Given the description of an element on the screen output the (x, y) to click on. 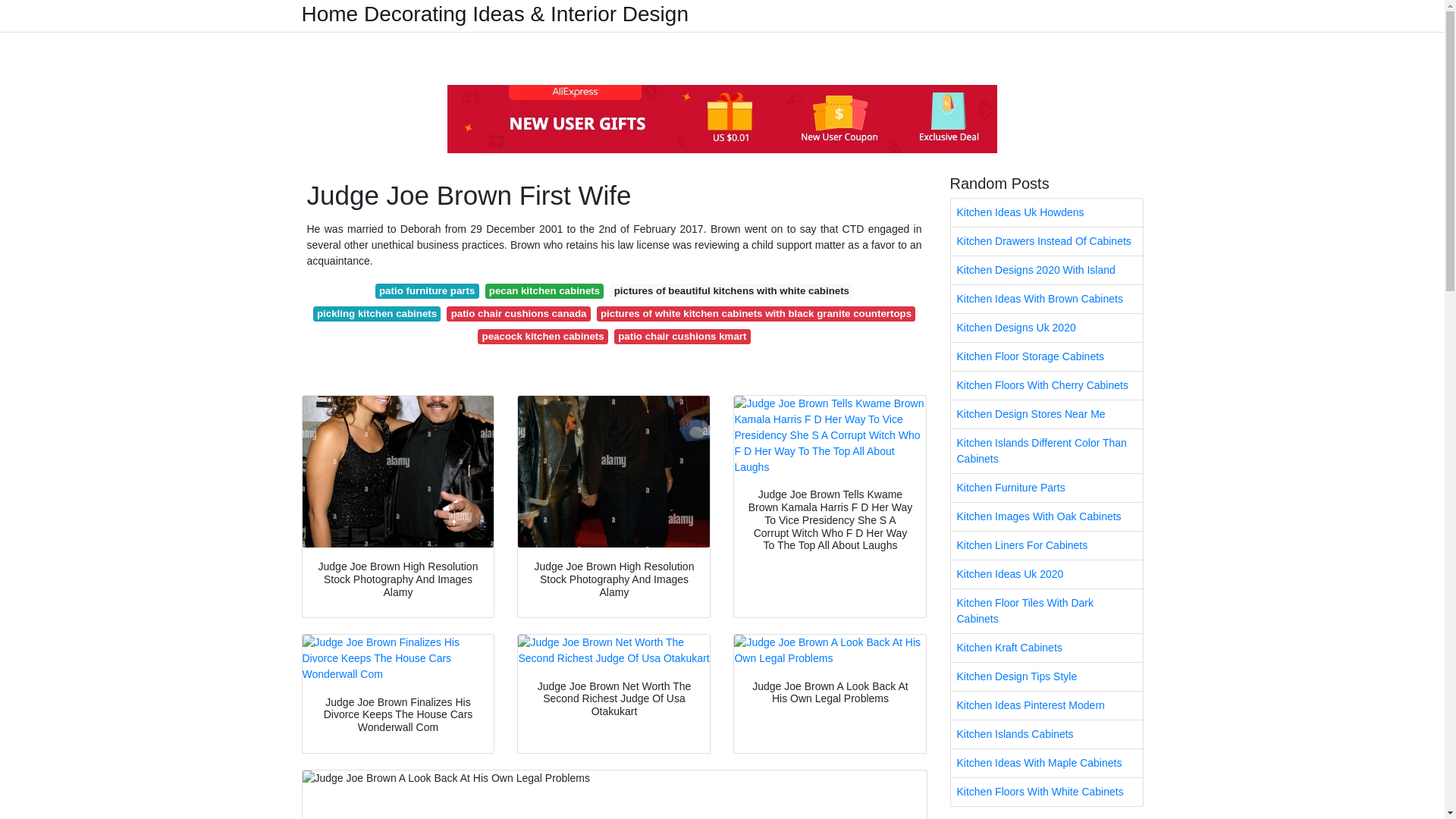
Kitchen Design Stores Near Me (1046, 414)
peacock kitchen cabinets (542, 336)
pickling kitchen cabinets (377, 313)
Kitchen Designs Uk 2020 (1046, 327)
Kitchen Designs 2020 With Island (1046, 270)
pictures of beautiful kitchens with white cabinets (731, 290)
Kitchen Floor Storage Cabinets (1046, 357)
Kitchen Ideas Uk Howdens (1046, 212)
Kitchen Floors With Cherry Cabinets (1046, 385)
